Given the description of an element on the screen output the (x, y) to click on. 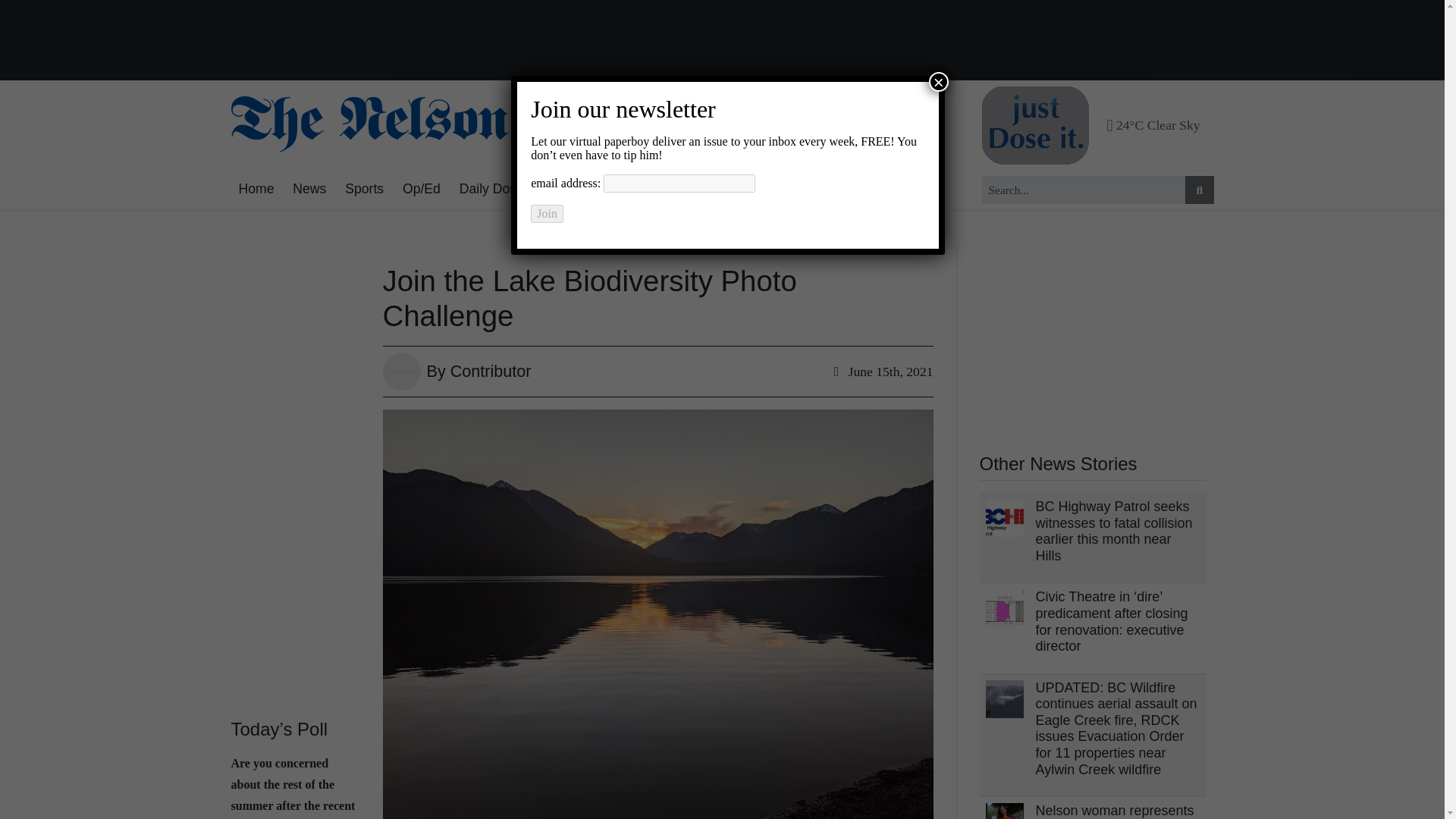
Obits (806, 189)
Home (255, 189)
Events (750, 189)
Business (684, 189)
Sports (364, 189)
Daily Dose (491, 189)
3rd party ad content (721, 41)
Join (547, 213)
Arts and Culture (590, 189)
3rd party ad content (1093, 339)
News (309, 189)
